Given the description of an element on the screen output the (x, y) to click on. 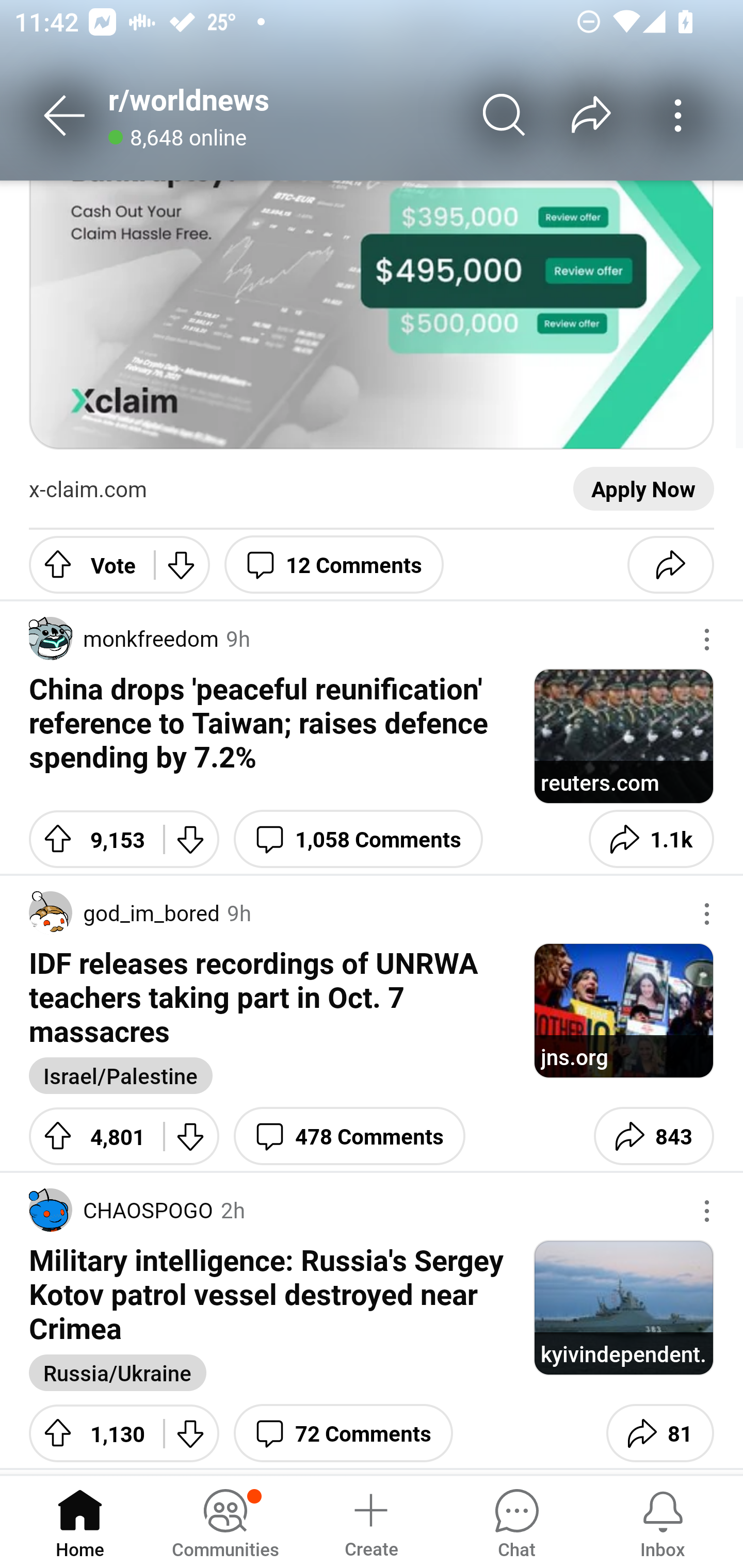
Back (64, 115)
Search r/﻿worldnews (504, 115)
Share r/﻿worldnews (591, 115)
More community actions (677, 115)
Image (371, 315)
x-claim.com (87, 489)
Apply Now (643, 489)
Upvote Vote (83, 563)
Downvote (181, 563)
12 Comments (333, 563)
Share (670, 563)
Author monkfreedom (123, 638)
Thumbnail image reuters.com (623, 735)
Upvote 9,153 (88, 838)
Downvote (191, 838)
1,058 Comments (358, 838)
Share 1.1k (651, 838)
Author god_im_bored (123, 913)
Thumbnail image jns.org (623, 1010)
Israel/Palestine (120, 1075)
Upvote 4,801 (88, 1135)
Downvote (191, 1135)
478 Comments (349, 1135)
Share 843 (653, 1135)
Author CHAOSPOGO (120, 1209)
Thumbnail image kyivindependent.com (623, 1307)
Russia/Ukraine (117, 1372)
Upvote 1,130 (88, 1432)
Downvote (191, 1432)
72 Comments (343, 1432)
Share 81 (660, 1432)
Home (80, 1520)
Communities, has notifications Communities (225, 1520)
Create a post Create (370, 1520)
Chat (516, 1520)
Inbox (662, 1520)
